Given the description of an element on the screen output the (x, y) to click on. 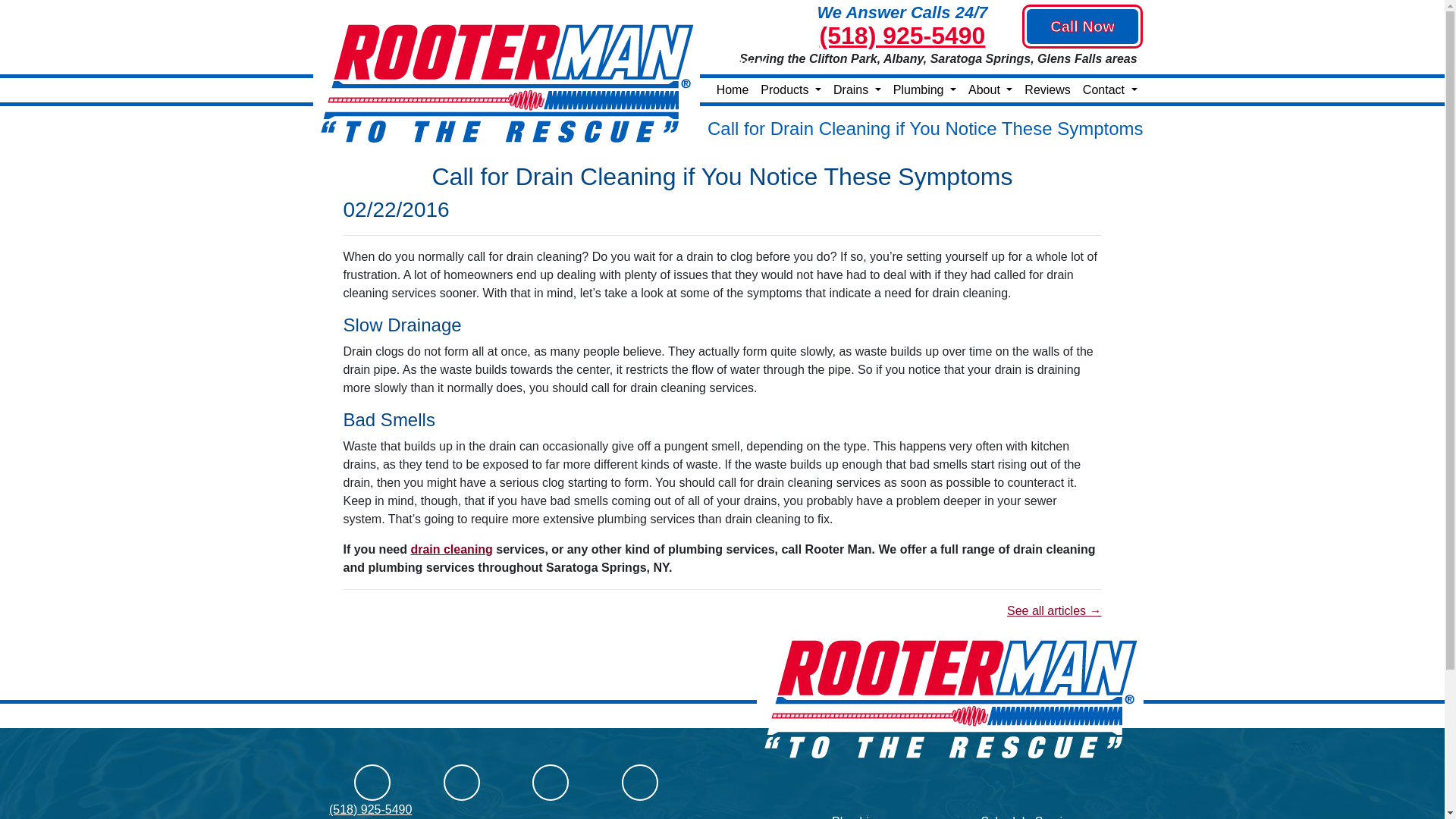
Plumbing (924, 89)
Products (790, 89)
Call Now (1082, 26)
Drains (856, 89)
Home (732, 89)
